Given the description of an element on the screen output the (x, y) to click on. 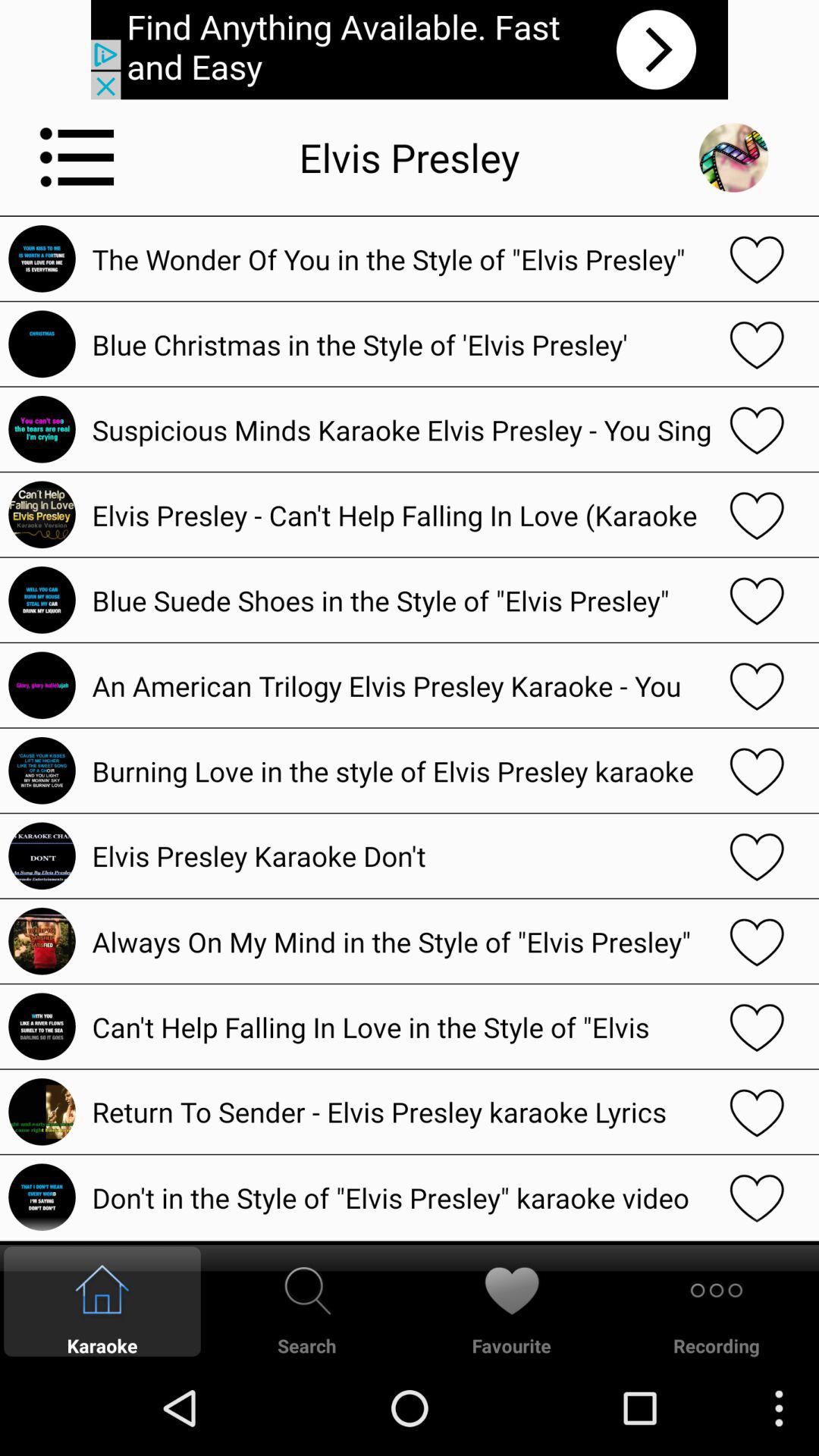
favorite (756, 514)
